Given the description of an element on the screen output the (x, y) to click on. 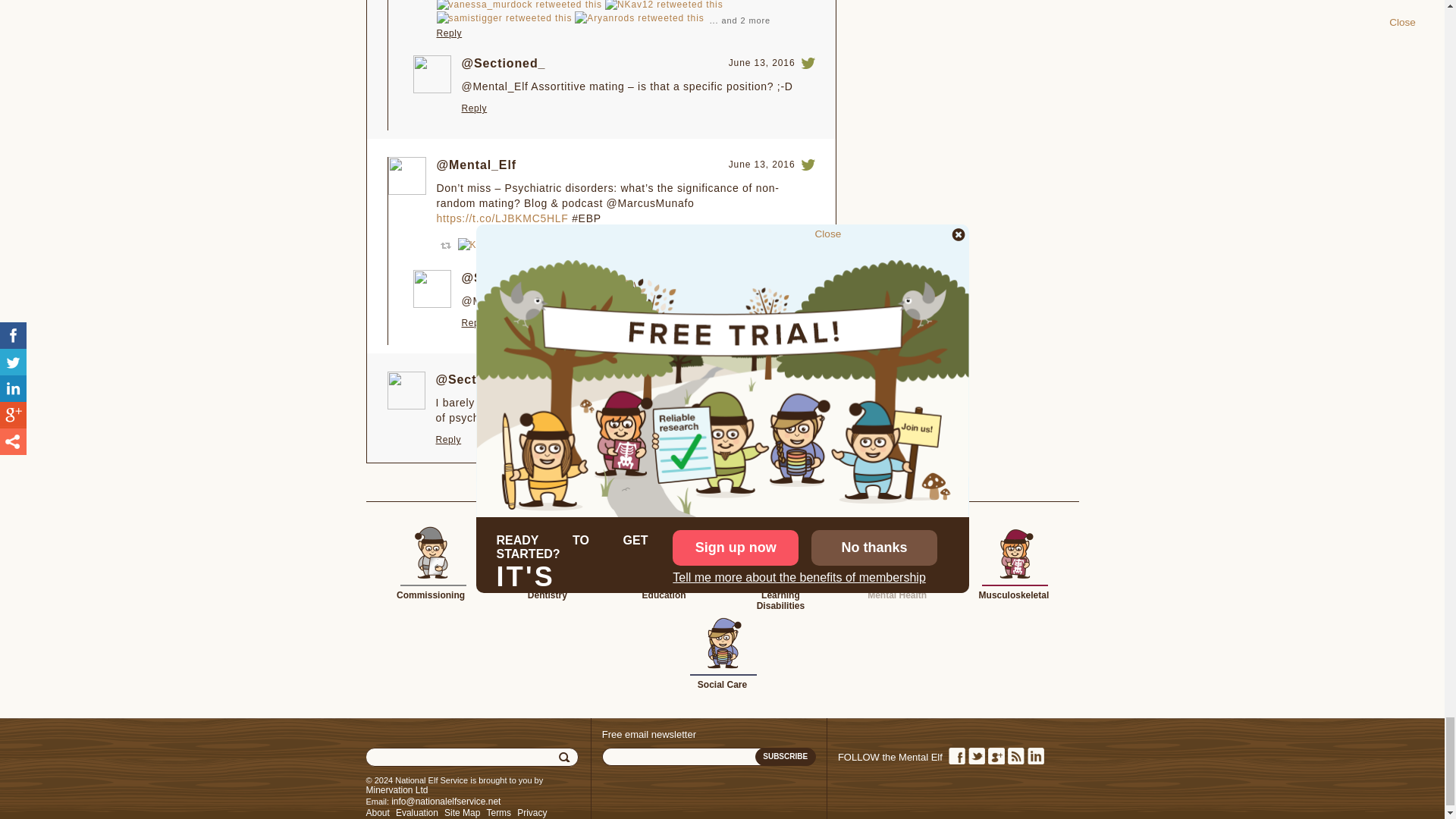
Subscribe (785, 756)
Search (565, 757)
